Given the description of an element on the screen output the (x, y) to click on. 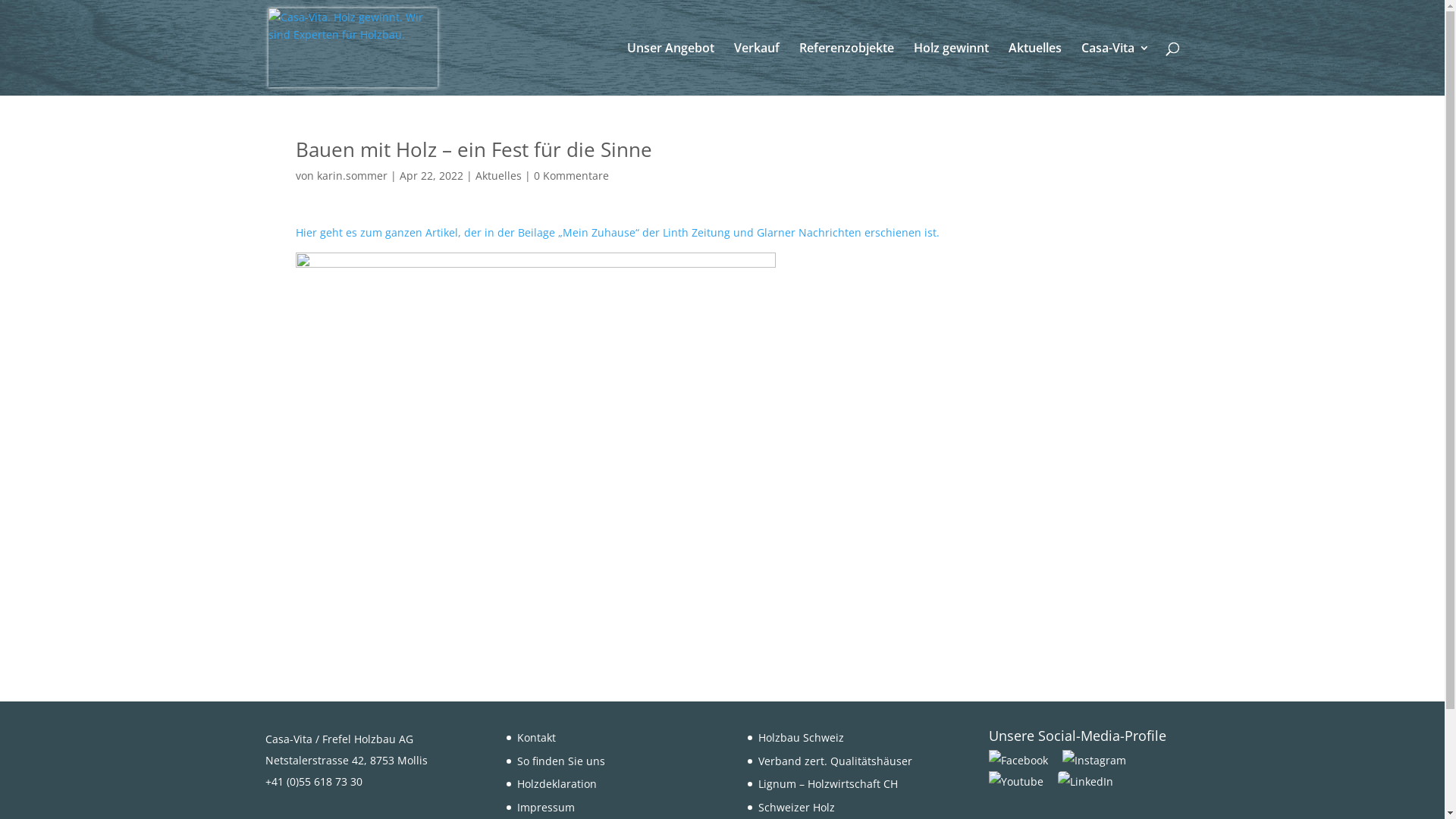
Unser Angebot Element type: text (669, 68)
Holzbau Schweiz Element type: text (801, 737)
Referenzobjekte Element type: text (846, 68)
Kontakt Element type: text (536, 737)
Verkauf Element type: text (756, 68)
Schweizer Holz Element type: text (796, 807)
LinkedIn Element type: hover (1085, 781)
Impressum Element type: text (545, 807)
Casa-Vita Element type: text (1115, 68)
Instagram Element type: hover (1099, 760)
Holz gewinnt Element type: text (950, 68)
karin.sommer Element type: text (351, 175)
Facebook Element type: hover (1023, 760)
Holzdeklaration Element type: text (556, 783)
0 Kommentare Element type: text (570, 175)
Aktuelles Element type: text (497, 175)
So finden Sie uns Element type: text (561, 760)
Youtube Element type: hover (1021, 781)
Aktuelles Element type: text (1034, 68)
